Given the description of an element on the screen output the (x, y) to click on. 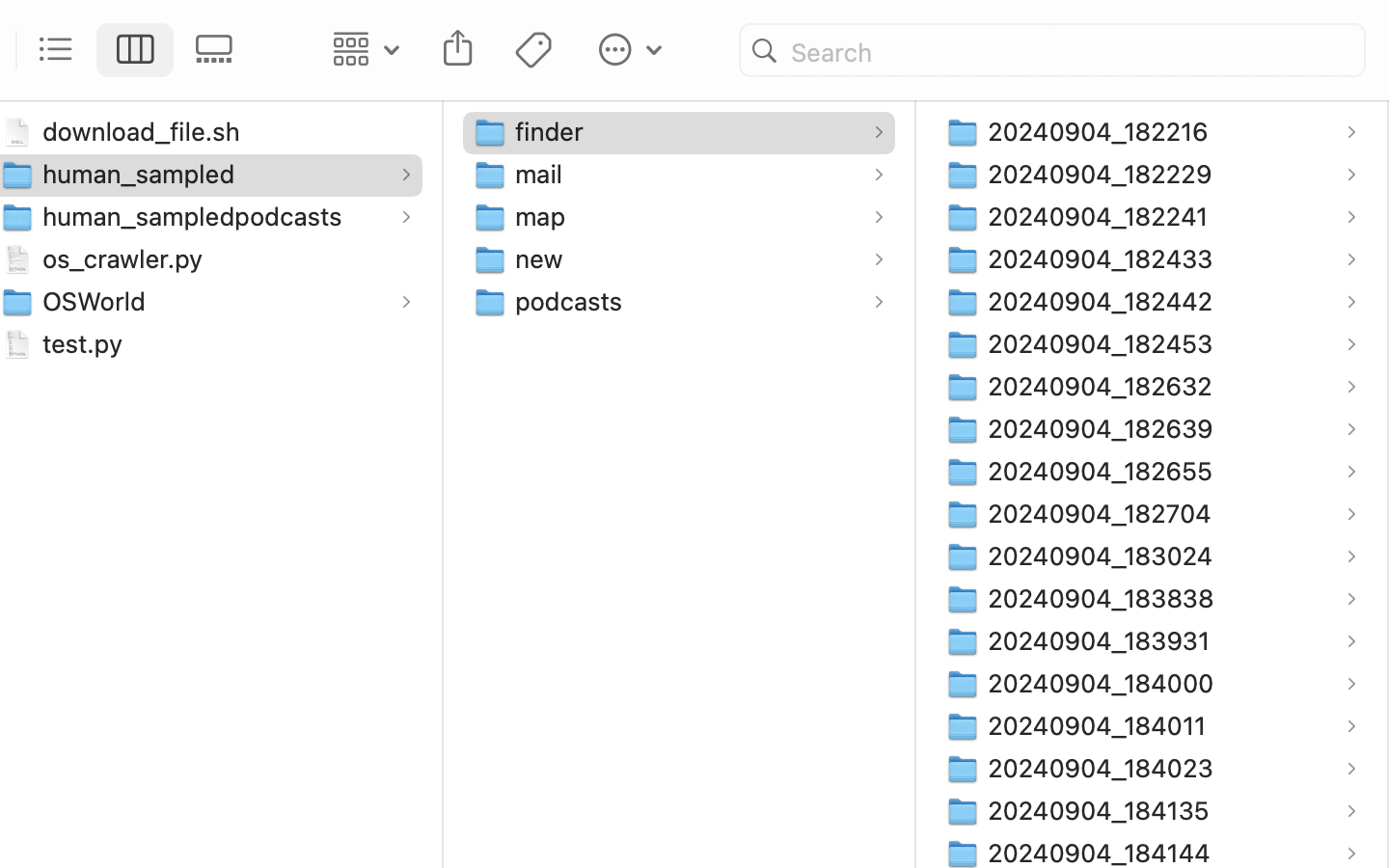
20240904_182639 Element type: AXTextField (1104, 427)
20240904_184135 Element type: AXTextField (1102, 809)
map Element type: AXTextField (544, 215)
20240904_184144 Element type: AXTextField (1103, 852)
20240904_183024 Element type: AXTextField (1104, 555)
